Given the description of an element on the screen output the (x, y) to click on. 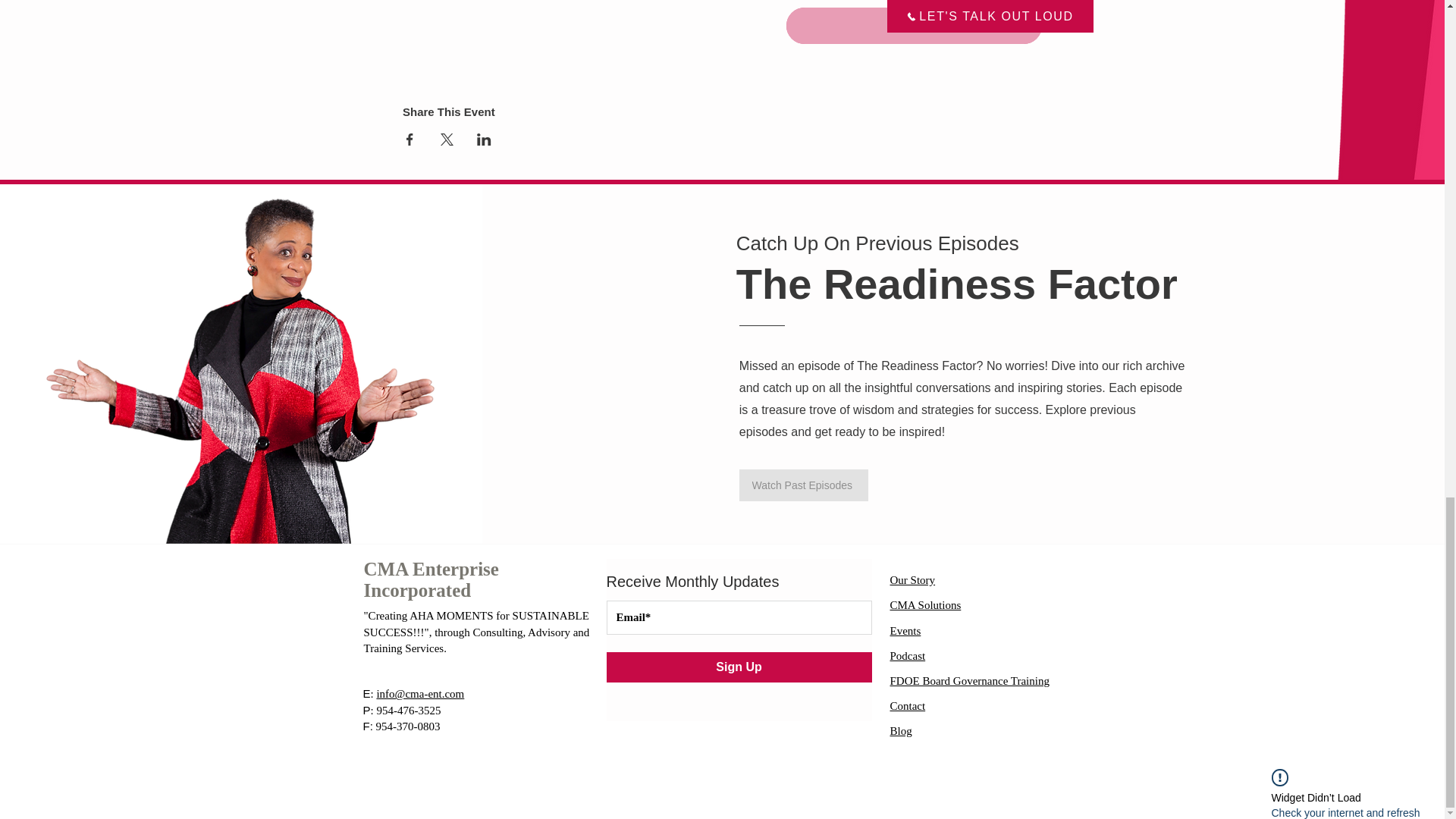
Sign Up (739, 666)
Watch Past Episodes (803, 485)
Checkout (914, 25)
